Given the description of an element on the screen output the (x, y) to click on. 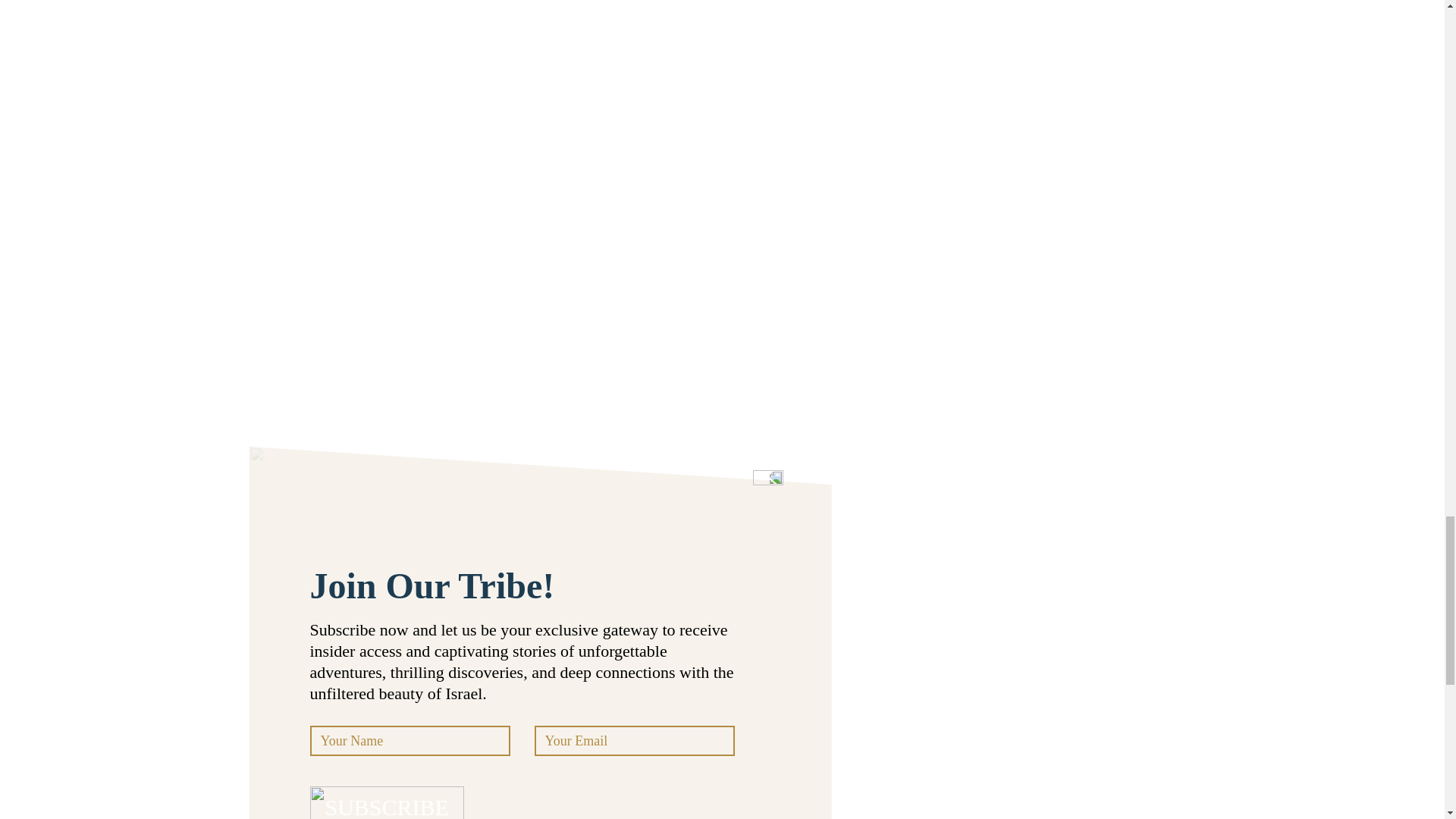
SUBSCRIBE (385, 802)
